Given the description of an element on the screen output the (x, y) to click on. 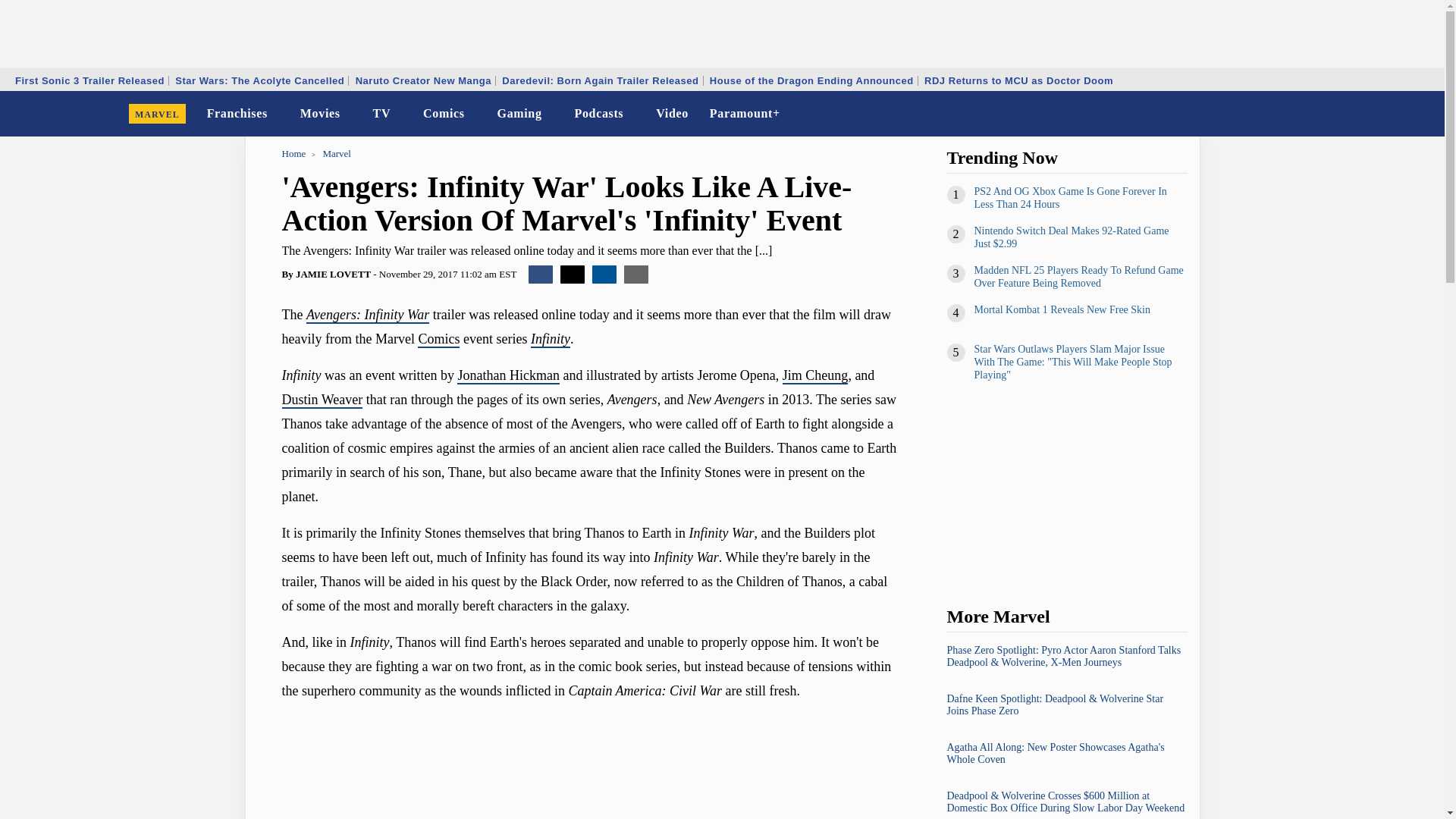
RDJ Returns to MCU as Doctor Doom (1018, 80)
Dark Mode (1394, 113)
Search (1422, 114)
Star Wars: The Acolyte Cancelled (259, 80)
Naruto Creator New Manga (423, 80)
First Sonic 3 Trailer Released (89, 80)
House of the Dragon Ending Announced (811, 80)
Daredevil: Born Again Trailer Released (599, 80)
Movies (320, 113)
MARVEL (157, 113)
